Given the description of an element on the screen output the (x, y) to click on. 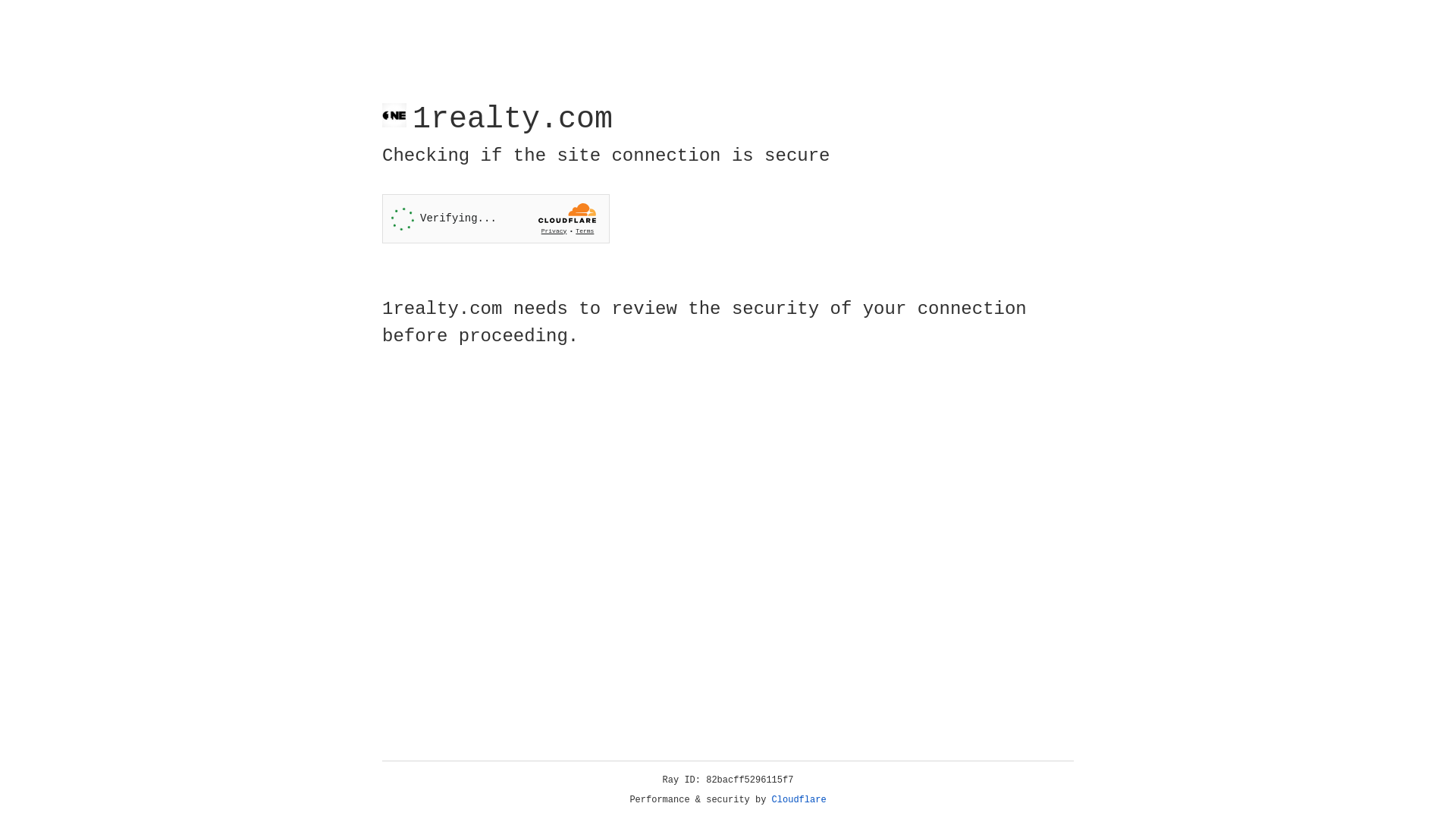
Cloudflare Element type: text (798, 799)
Widget containing a Cloudflare security challenge Element type: hover (495, 218)
